Given the description of an element on the screen output the (x, y) to click on. 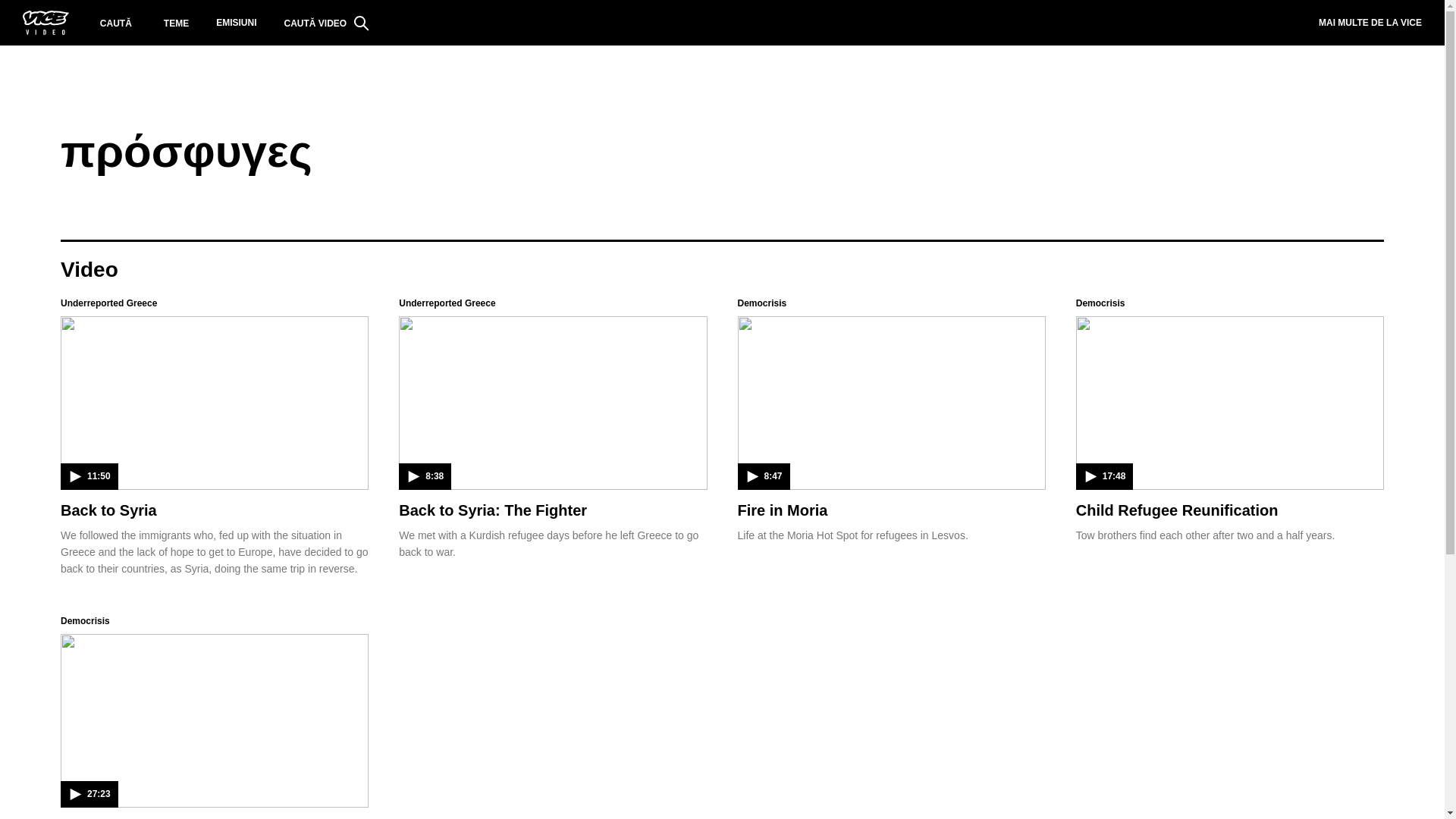
TEME (176, 23)
MAI MULTE DE LA VICE (1369, 22)
EMISIUNI (236, 22)
